Given the description of an element on the screen output the (x, y) to click on. 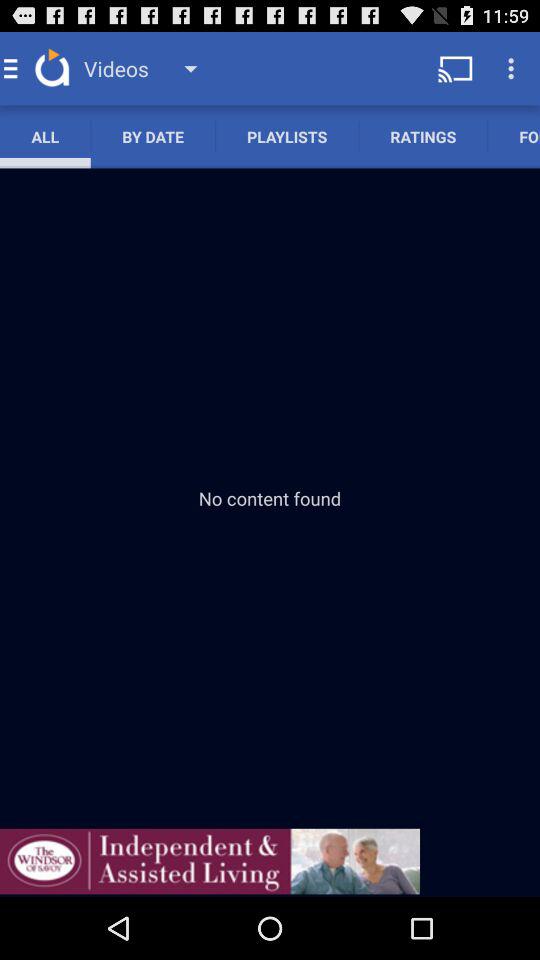
know about the advertisement (210, 861)
